Given the description of an element on the screen output the (x, y) to click on. 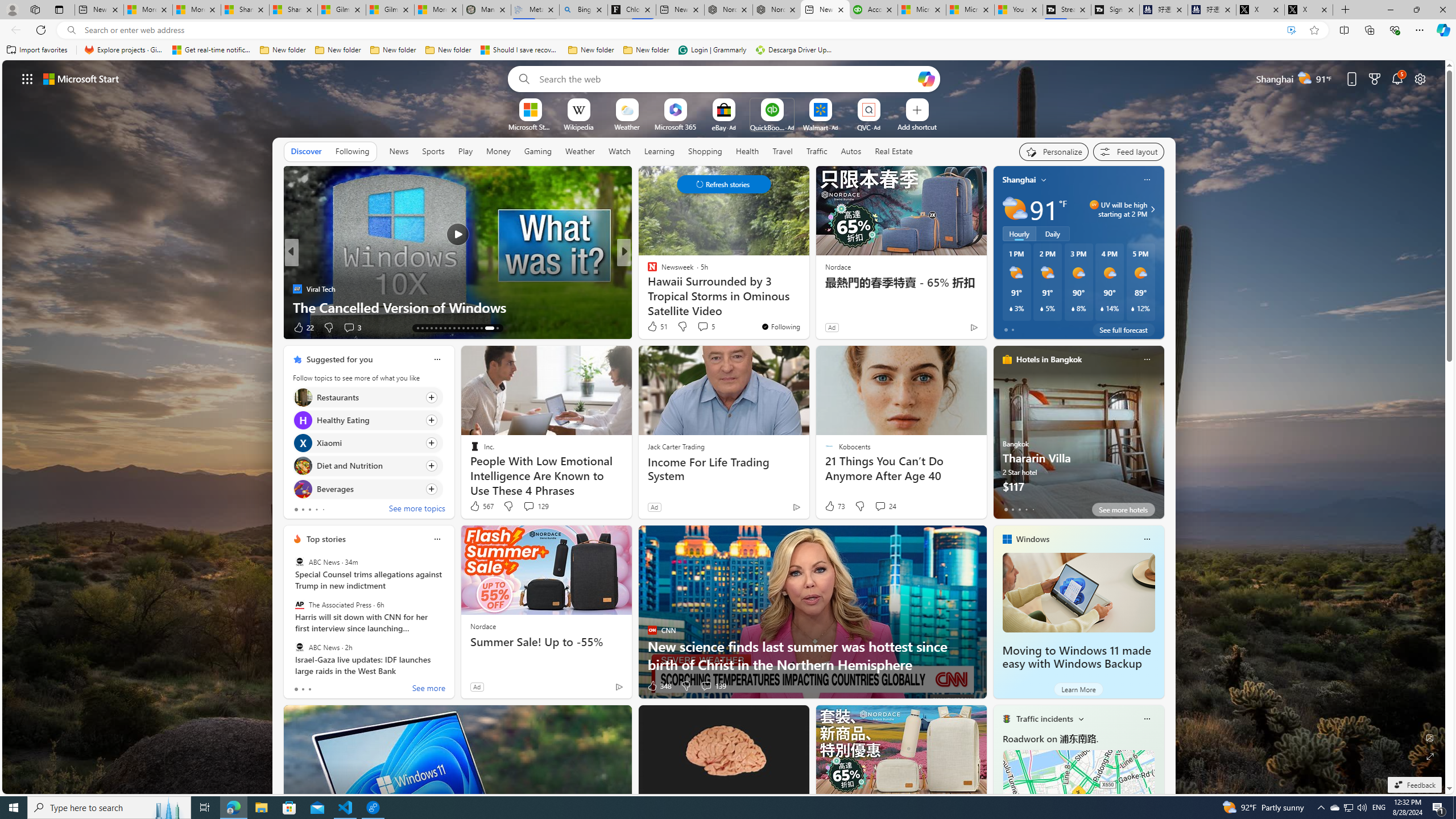
AutomationID: tab-23 (444, 328)
ABC News (299, 646)
View comments 5 Comment (703, 326)
AutomationID: waffle (27, 78)
AutomationID: tab-17 (417, 328)
Class: weather-arrow-glyph (1152, 208)
Click to follow topic Healthy Eating (367, 419)
